Given the description of an element on the screen output the (x, y) to click on. 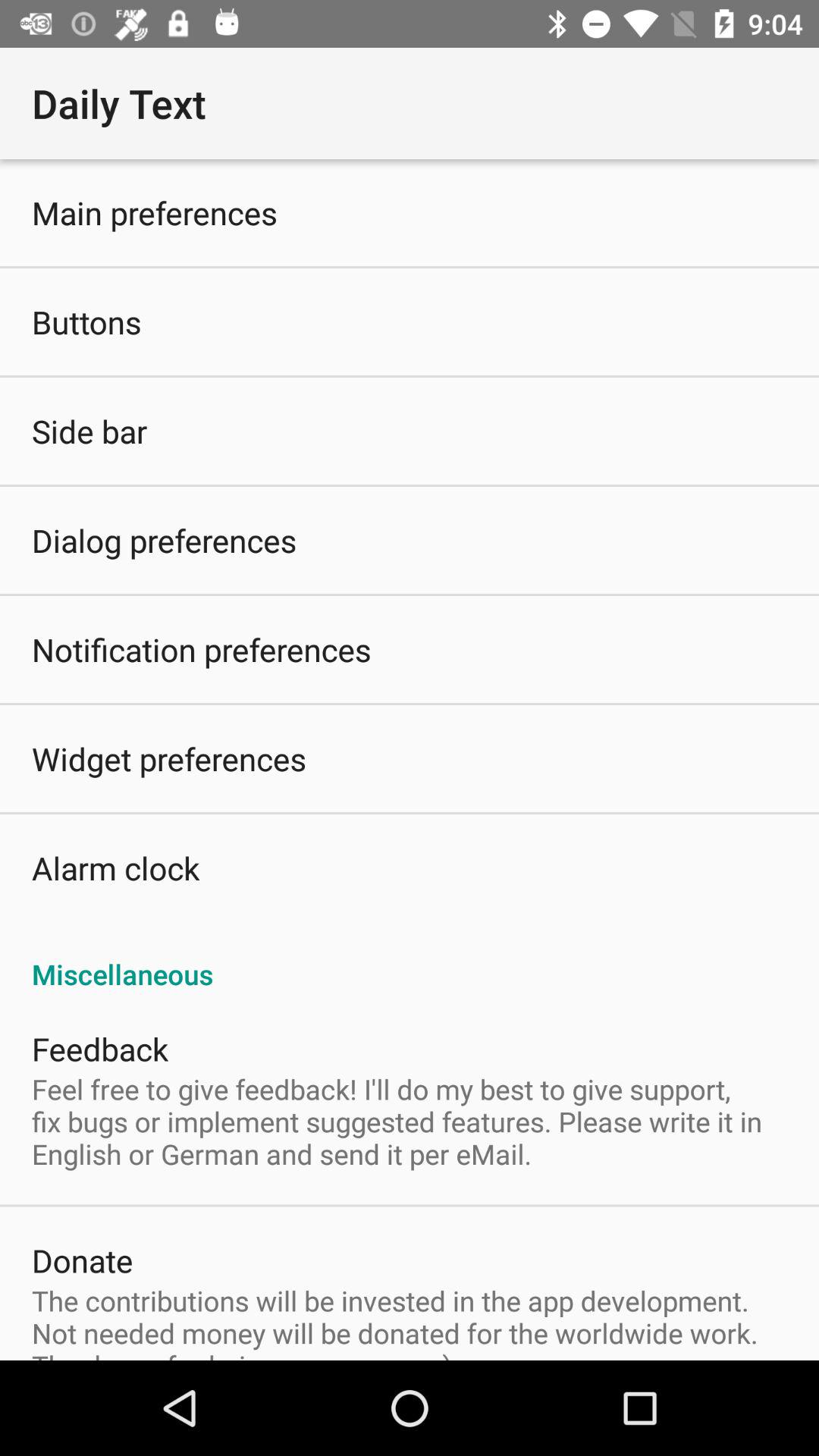
turn off the item above the contributions will app (82, 1259)
